Given the description of an element on the screen output the (x, y) to click on. 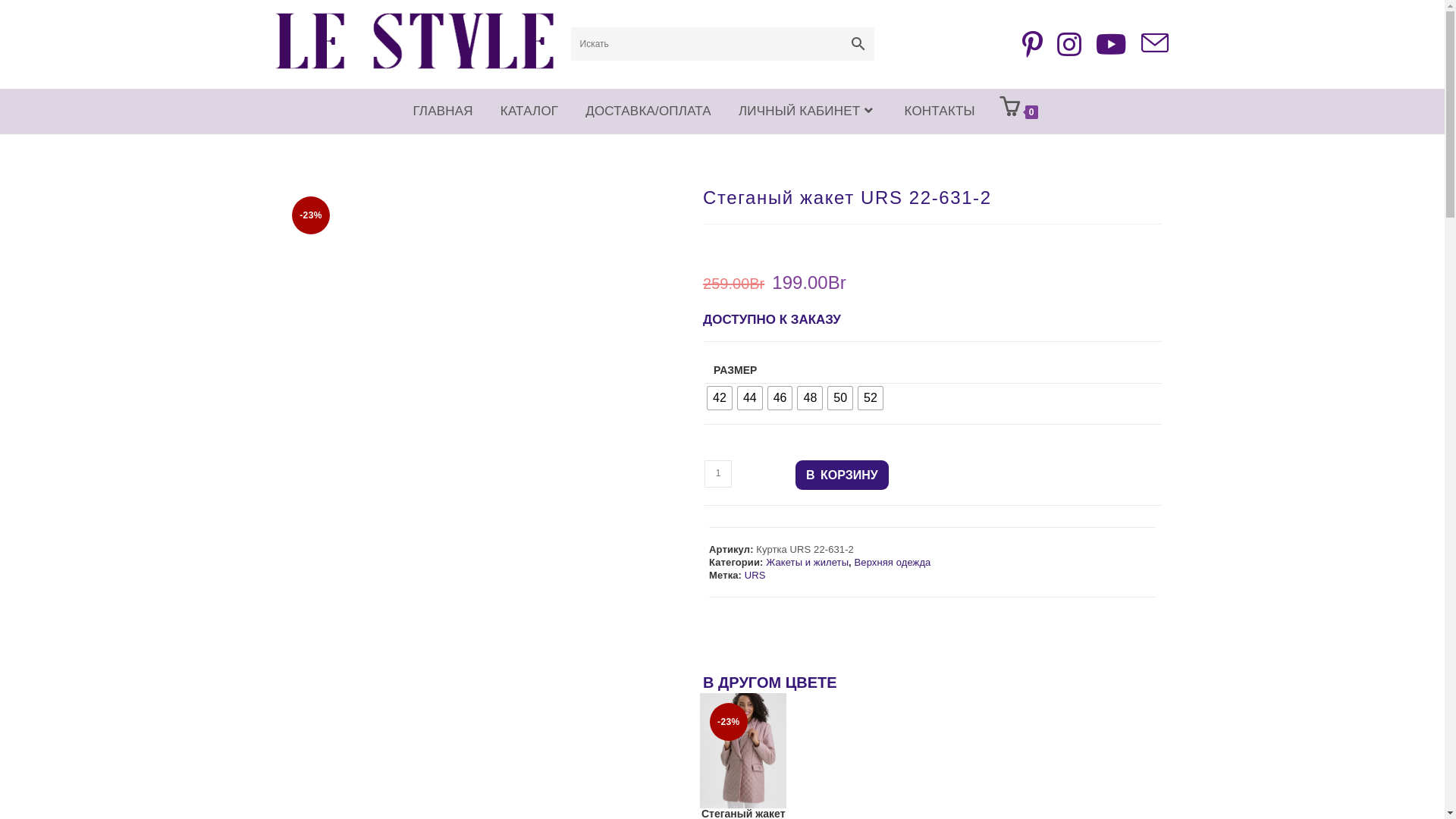
0 Element type: text (1018, 111)
URS Element type: text (754, 574)
